Given the description of an element on the screen output the (x, y) to click on. 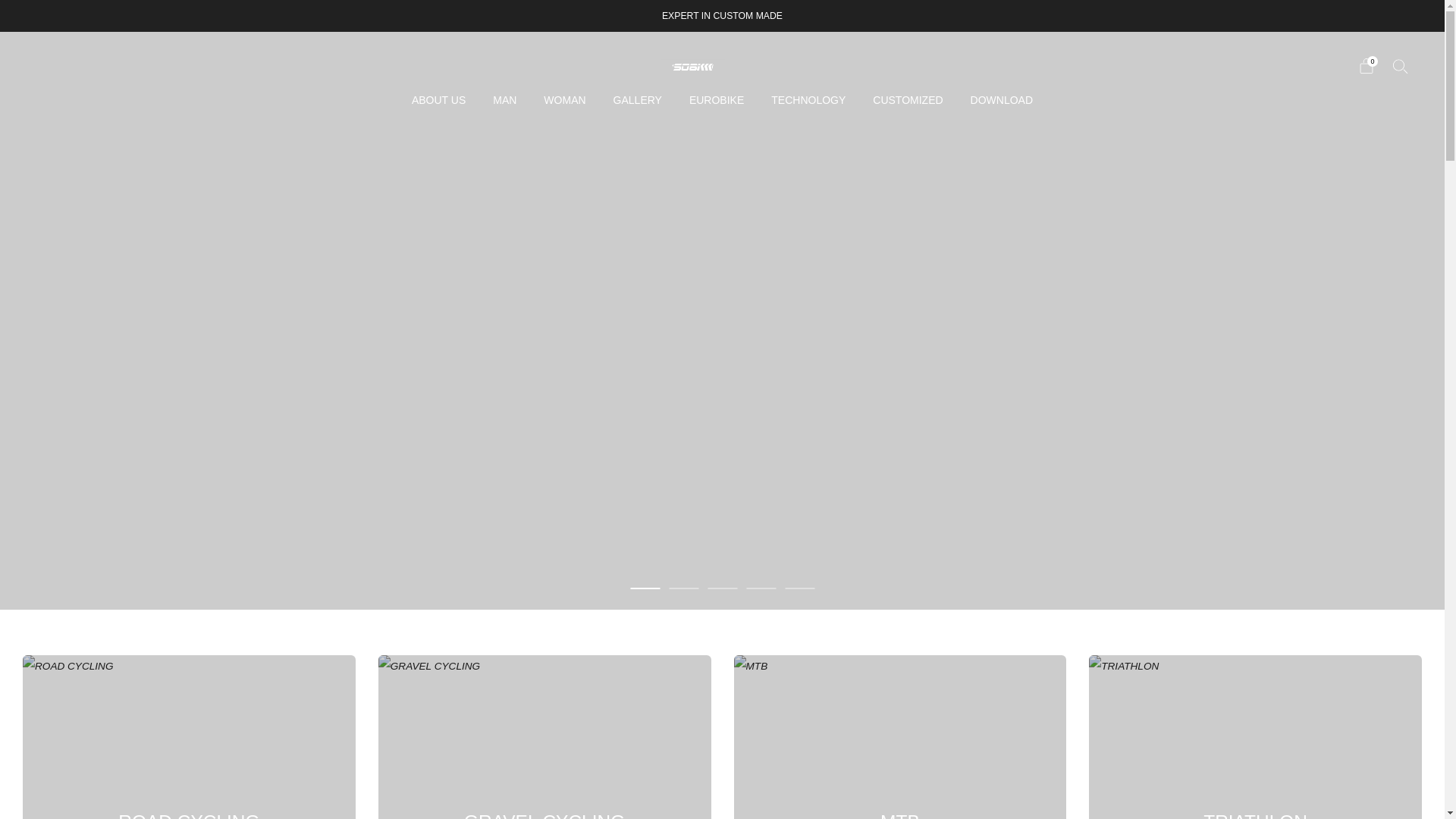
MAN (504, 99)
ABOUT US (438, 99)
